Given the description of an element on the screen output the (x, y) to click on. 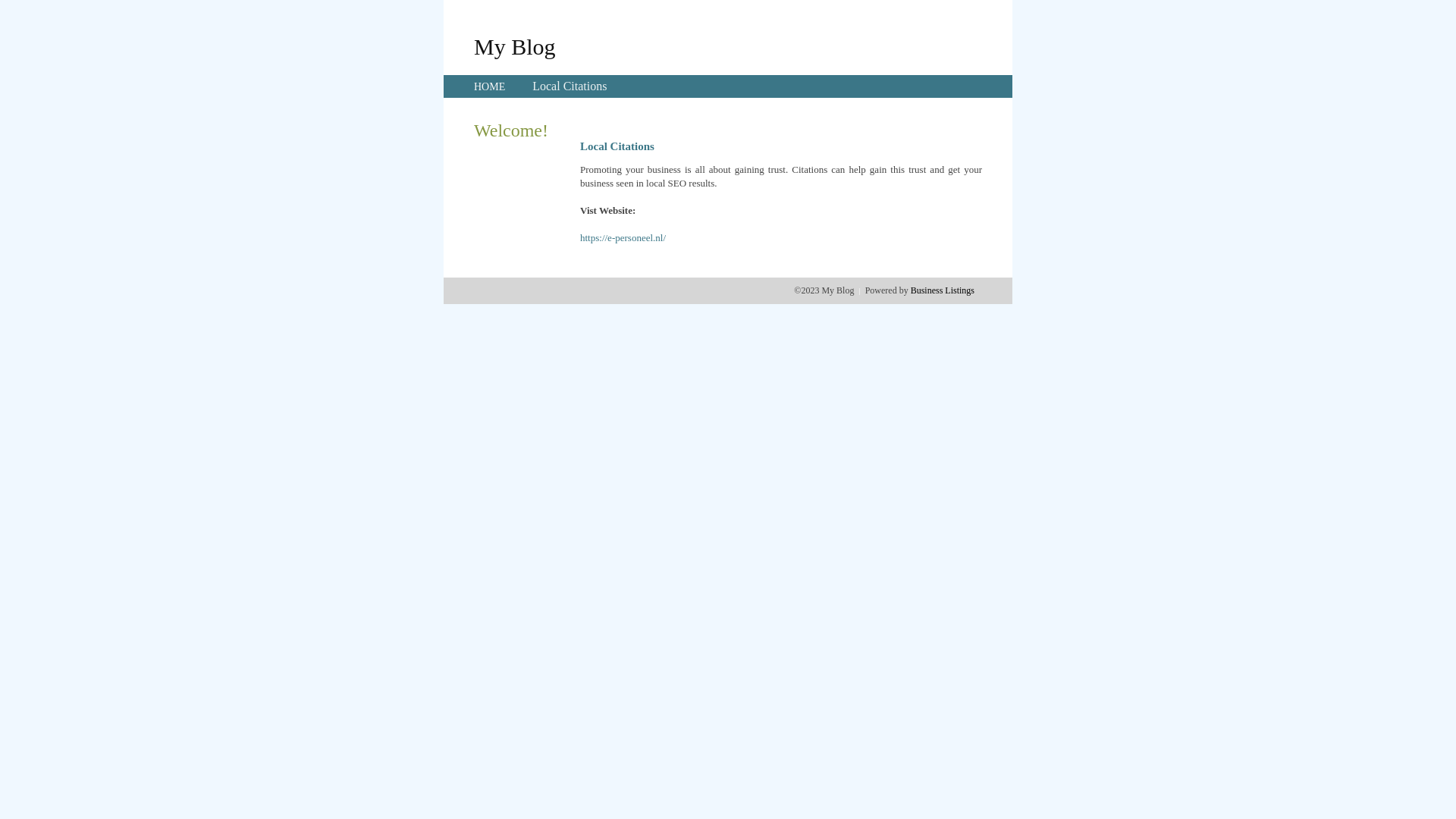
HOME Element type: text (489, 86)
Business Listings Element type: text (942, 290)
https://e-personeel.nl/ Element type: text (622, 237)
My Blog Element type: text (514, 46)
Local Citations Element type: text (569, 85)
